Given the description of an element on the screen output the (x, y) to click on. 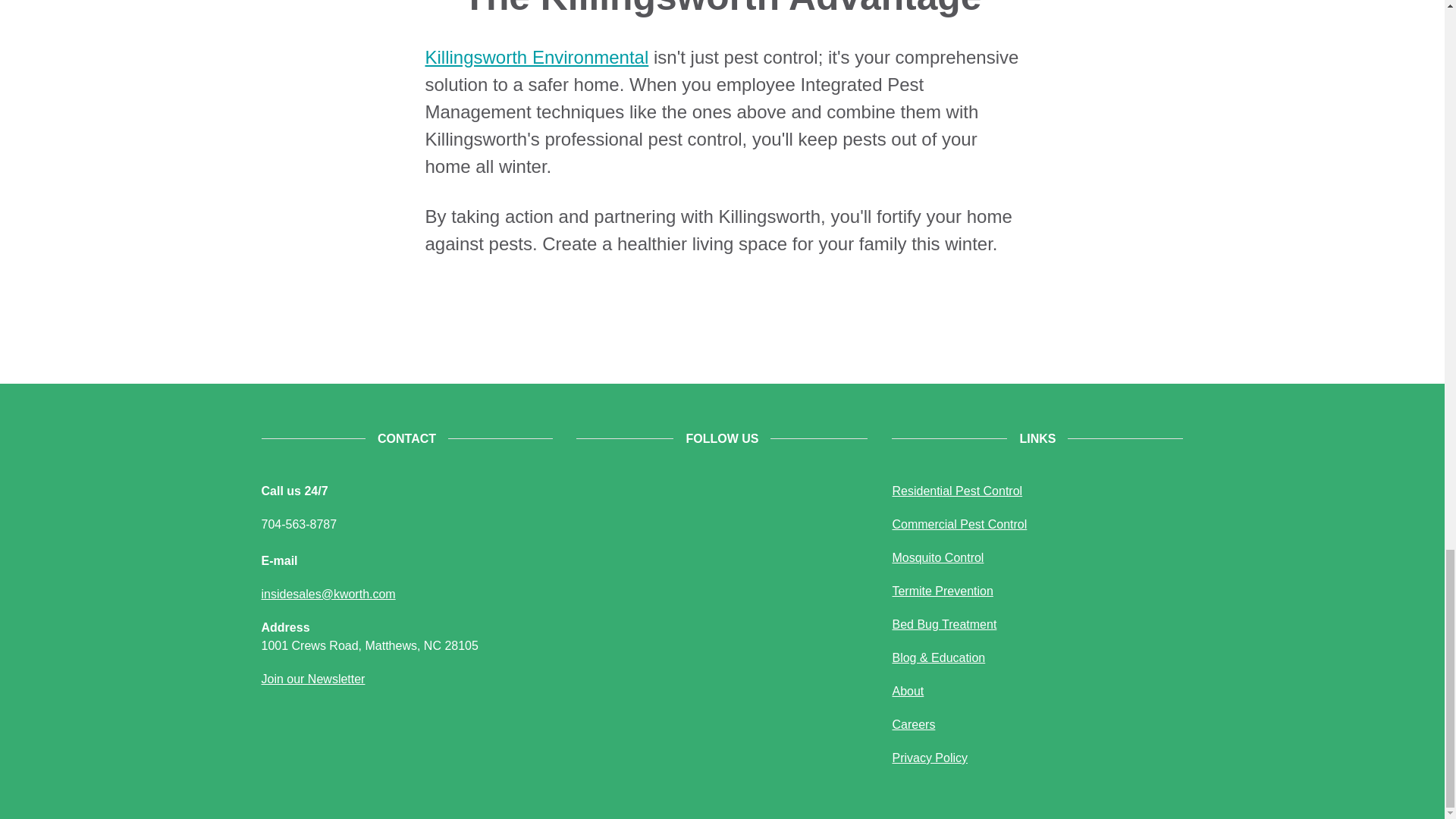
Join Our Newsletter (312, 678)
Privacy Policy (929, 757)
Pest Control (956, 490)
Careers (912, 724)
Mosquito Control (937, 557)
Blog (938, 657)
Termite Prevention (941, 590)
About (907, 690)
Commercial Pest Control (958, 523)
Bed Bug Treatment Charlotte (943, 624)
